Given the description of an element on the screen output the (x, y) to click on. 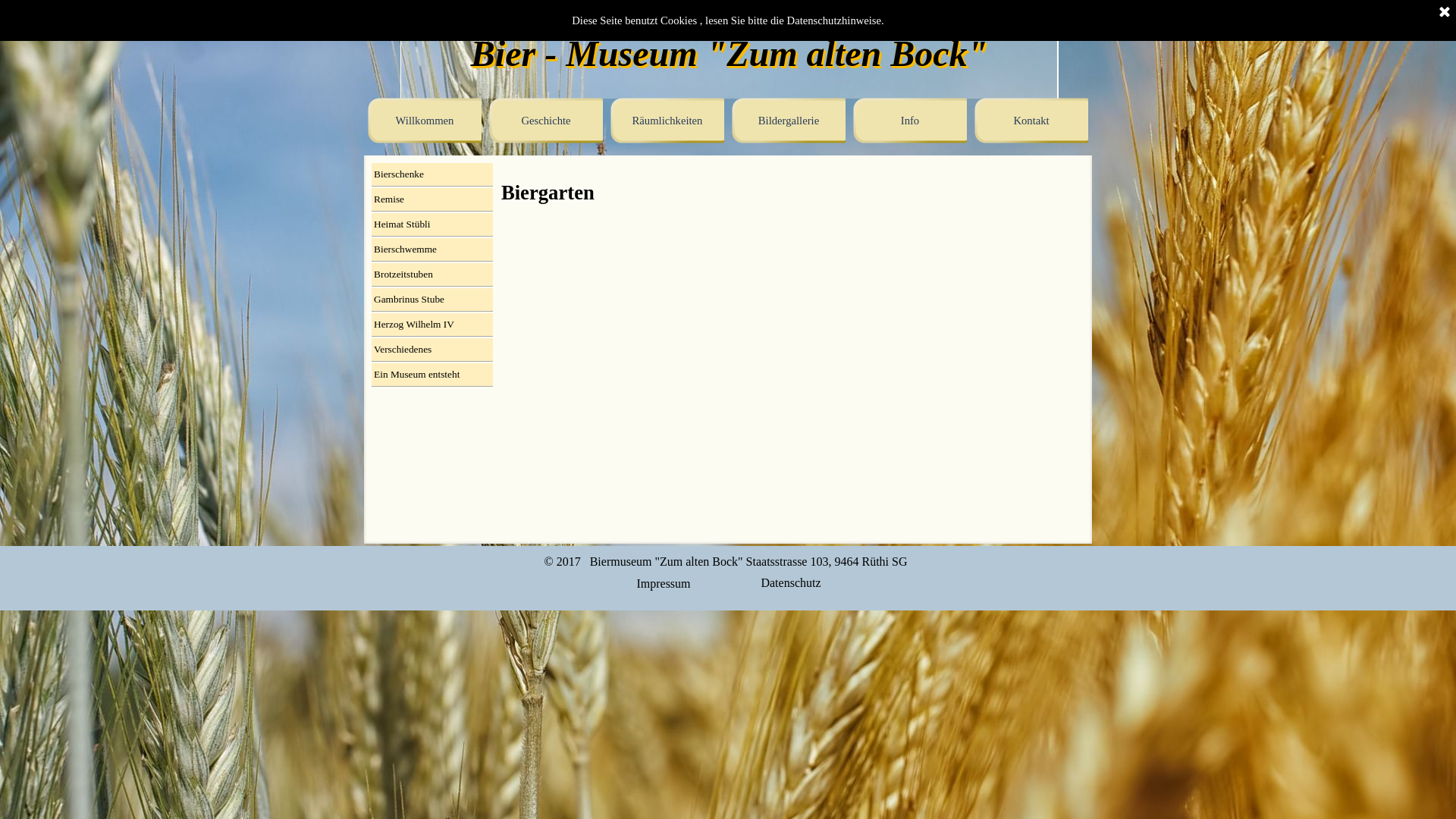
Info Element type: text (909, 120)
Bierschwemme Element type: text (431, 249)
Remise Element type: text (431, 199)
Kontakt Element type: text (1031, 120)
Brotzeitstuben Element type: text (431, 274)
Geschichte Element type: text (545, 120)
Herzog Wilhelm IV Element type: text (431, 324)
Willkommen Element type: text (424, 120)
Impressum Element type: text (663, 583)
Ein Museum entsteht Element type: text (431, 374)
Verschiedenes Element type: text (431, 349)
Datenschutz Element type: text (790, 582)
Gambrinus Stube Element type: text (431, 299)
Bierschenke Element type: text (431, 174)
Bildergallerie Element type: text (788, 120)
